Given the description of an element on the screen output the (x, y) to click on. 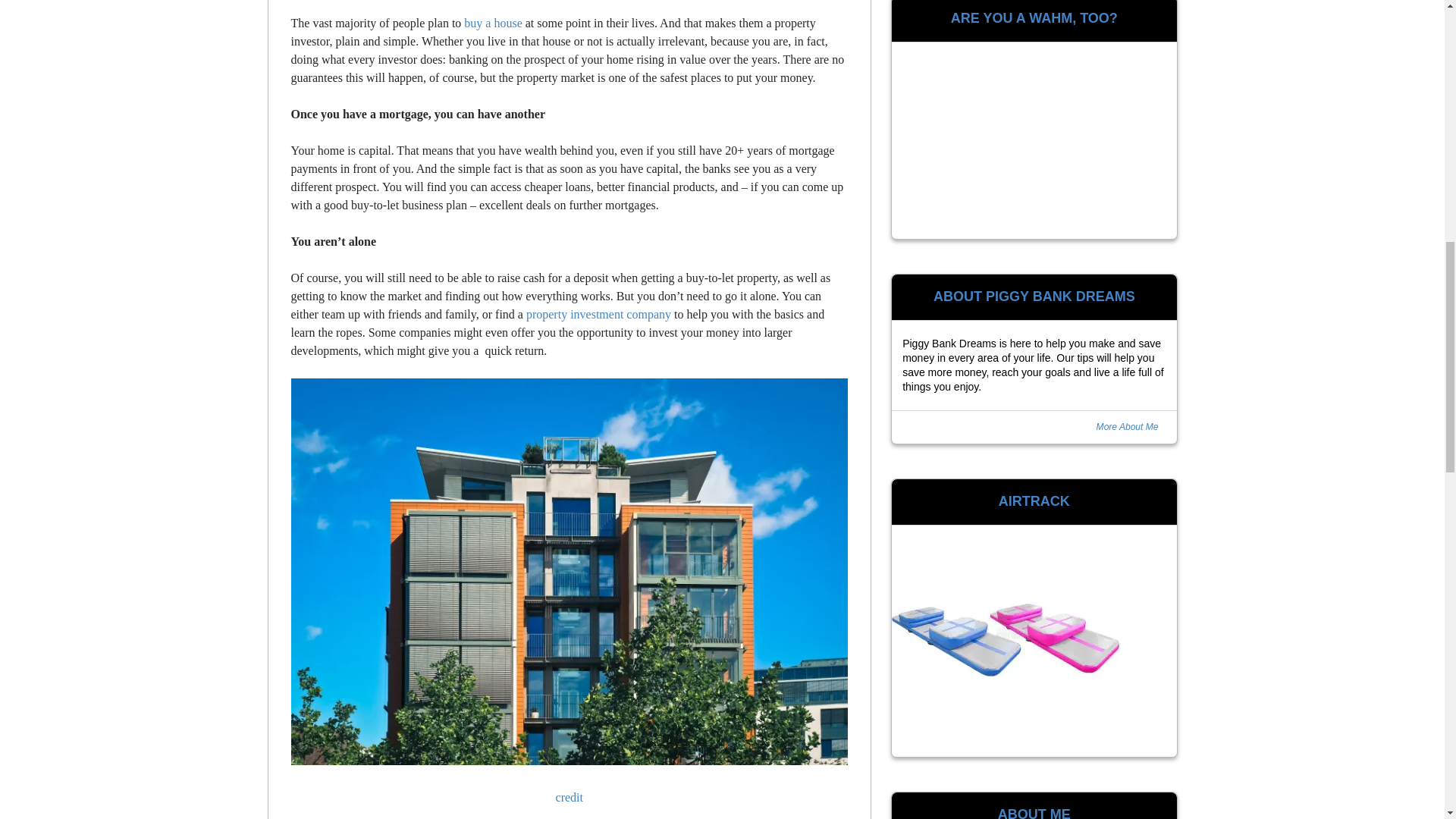
property investment company (598, 314)
credit (569, 797)
buy a house (492, 22)
